Given the description of an element on the screen output the (x, y) to click on. 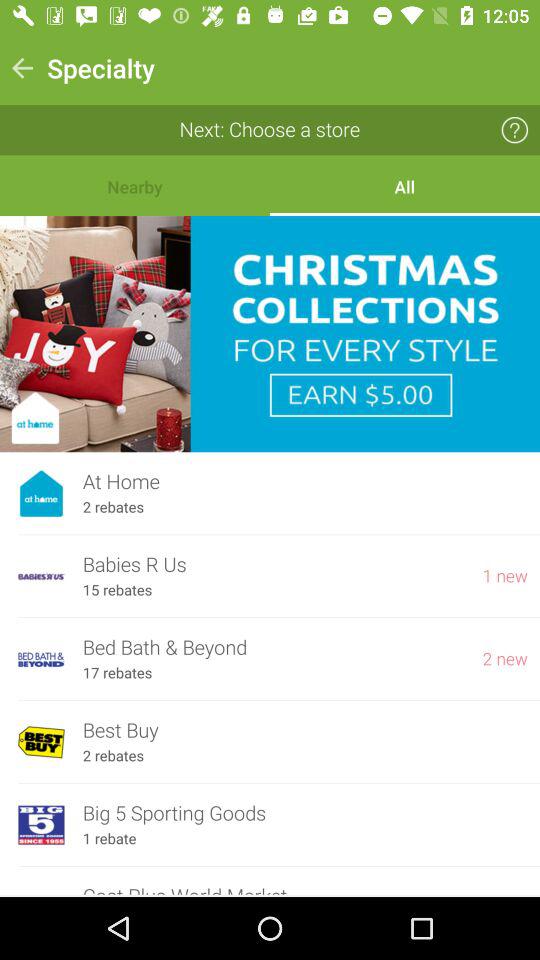
flip to big 5 sporting item (305, 813)
